Given the description of an element on the screen output the (x, y) to click on. 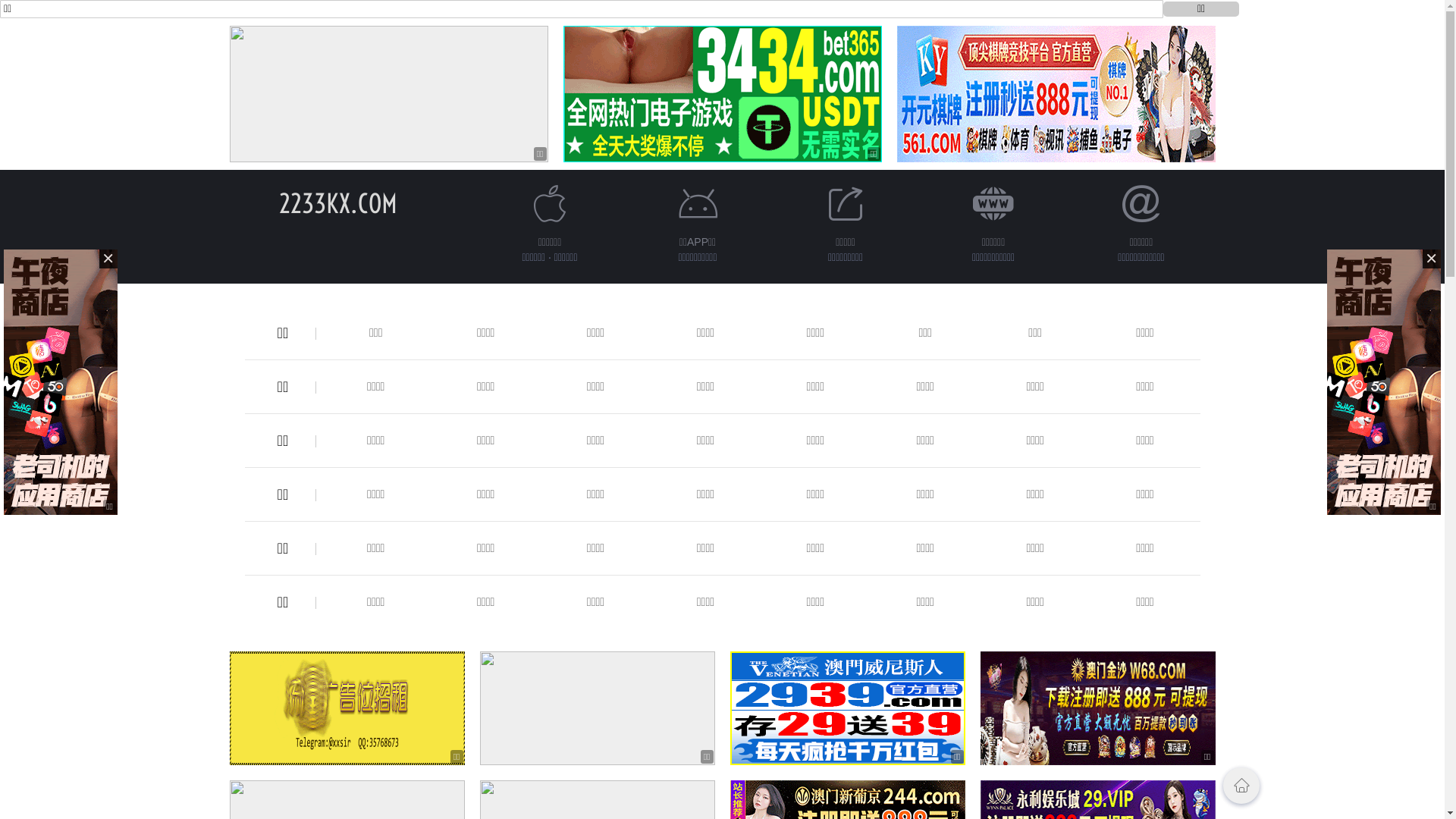
2233KX.COM Element type: text (338, 203)
